Given the description of an element on the screen output the (x, y) to click on. 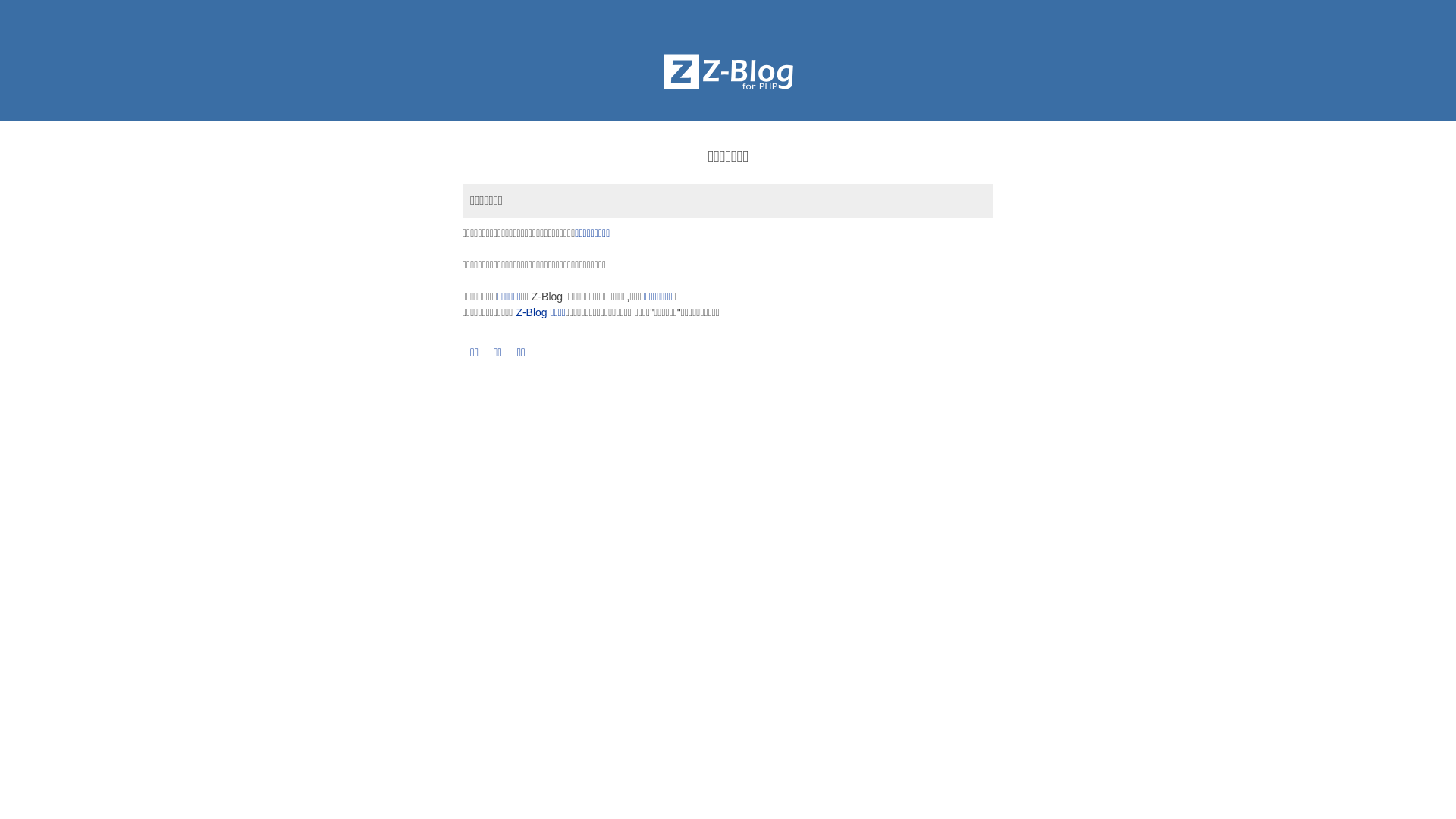
Z-BlogPHP Element type: hover (727, 71)
